Given the description of an element on the screen output the (x, y) to click on. 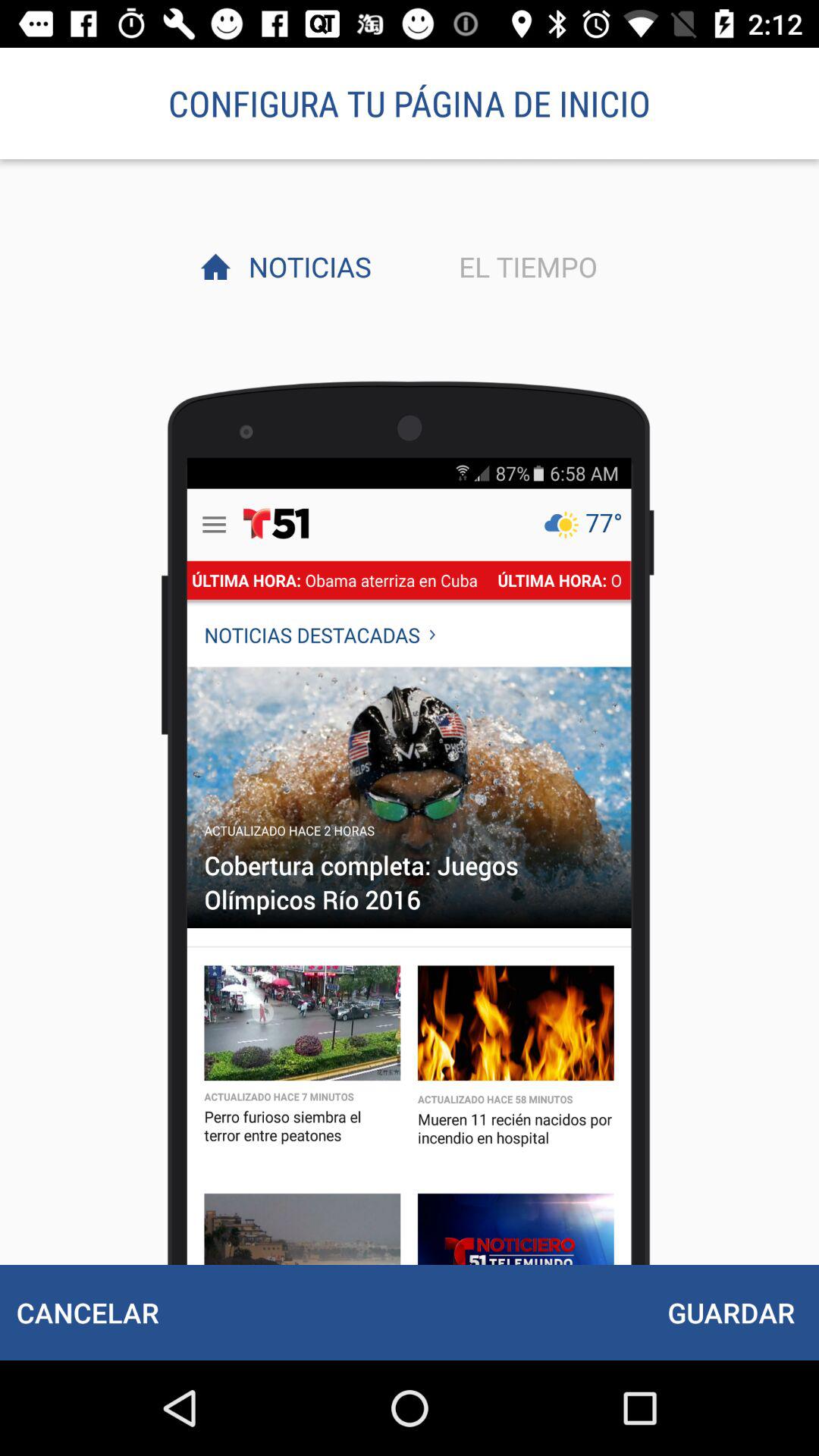
open the noticias (305, 266)
